Given the description of an element on the screen output the (x, y) to click on. 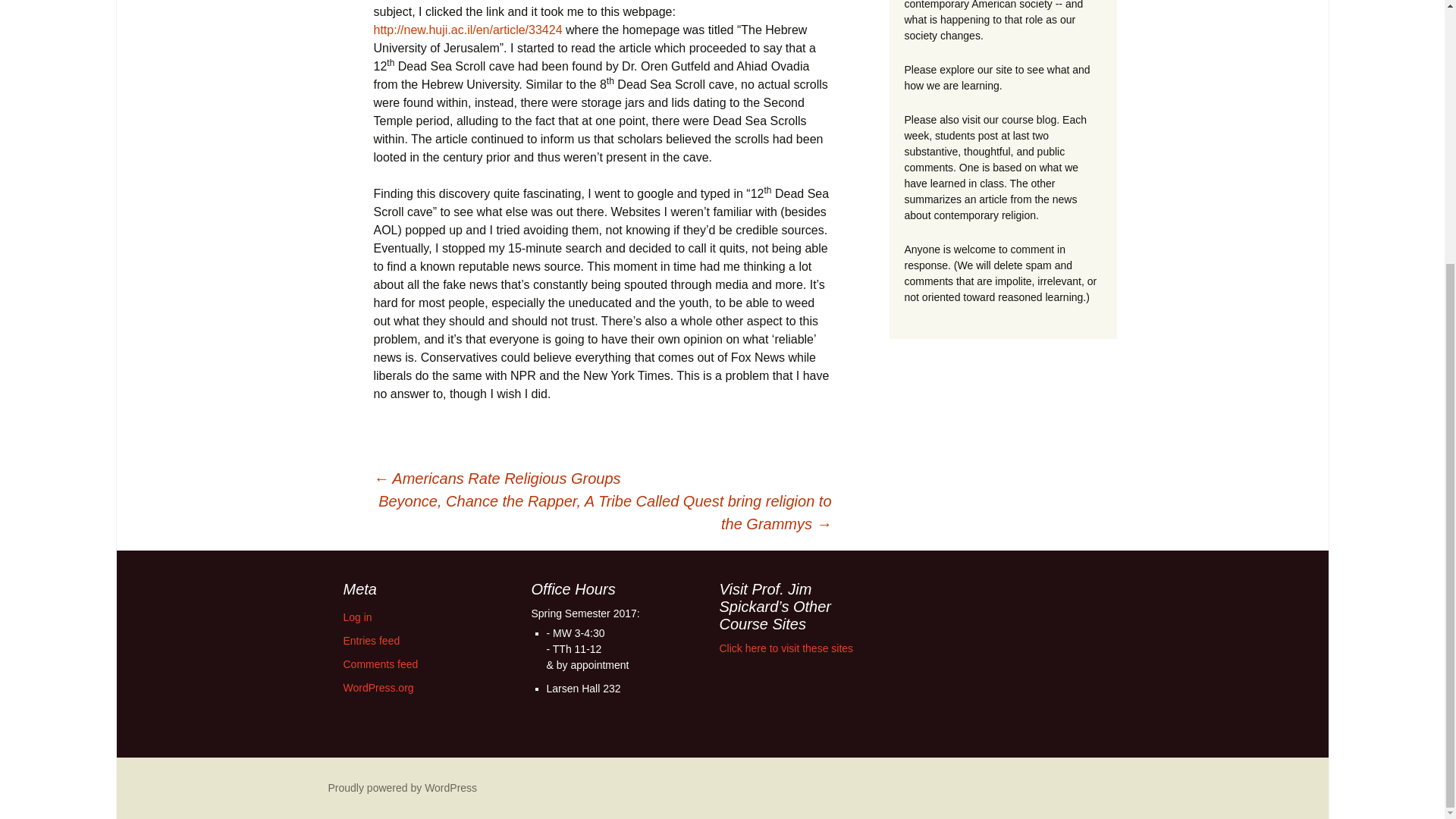
Log in (356, 616)
Proudly powered by WordPress (402, 787)
Click here to visit these sites (786, 648)
WordPress.org (377, 687)
Entries feed (370, 640)
Comments feed (379, 664)
